Given the description of an element on the screen output the (x, y) to click on. 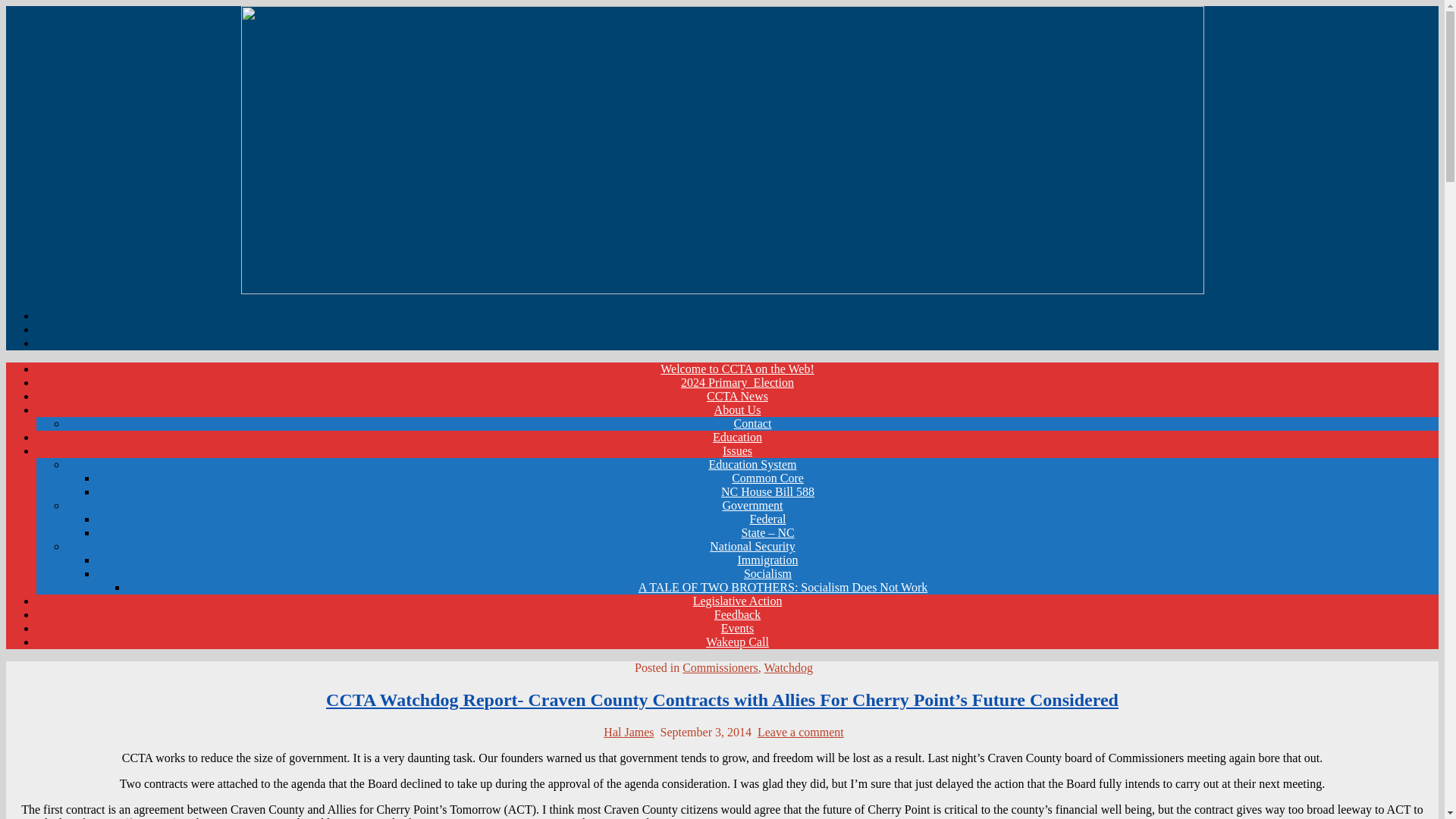
Education (737, 436)
NC House Bill 588 (766, 491)
Contact (752, 422)
Coastal Carolina Taxpayers Association (211, 338)
A TALE OF TWO BROTHERS: Socialism Does Not Work (783, 586)
Wakeup Call (737, 641)
Issues (737, 450)
Hal James (628, 731)
Leave a comment (800, 731)
Government (752, 504)
